Given the description of an element on the screen output the (x, y) to click on. 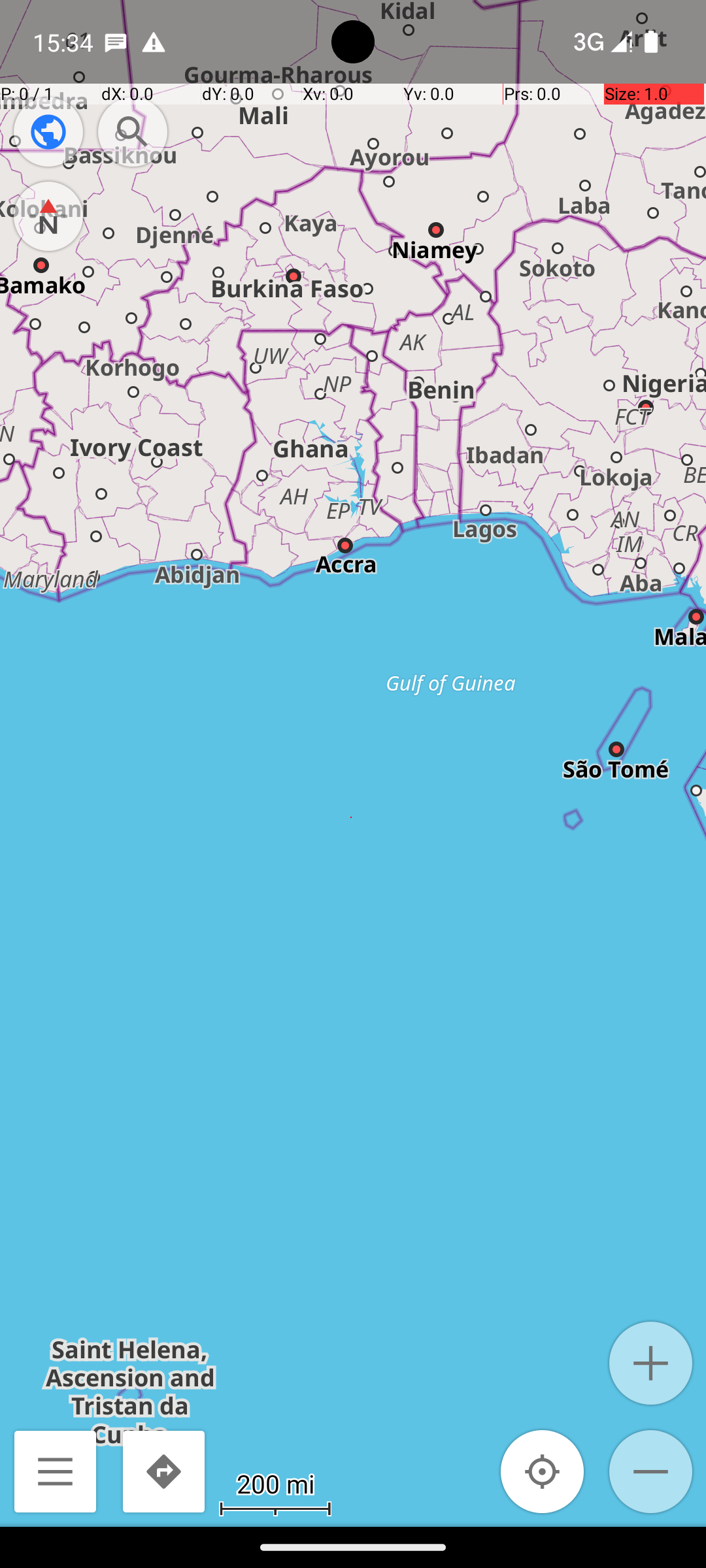
Map Element type: android.view.View (353, 763)
Configure map Element type: android.widget.ImageButton (48, 131)
North is up Element type: android.widget.ImageButton (48, 216)
Back to menu Element type: android.widget.ImageButton (55, 1471)
Route Element type: android.widget.ImageButton (163, 1471)
200 mi Element type: android.widget.TextView (274, 1483)
Position not yet known. Element type: android.widget.ImageButton (542, 1471)
Zoom in Element type: android.widget.ImageButton (650, 1362)
Zoom out Element type: android.widget.ImageButton (650, 1471)
